Given the description of an element on the screen output the (x, y) to click on. 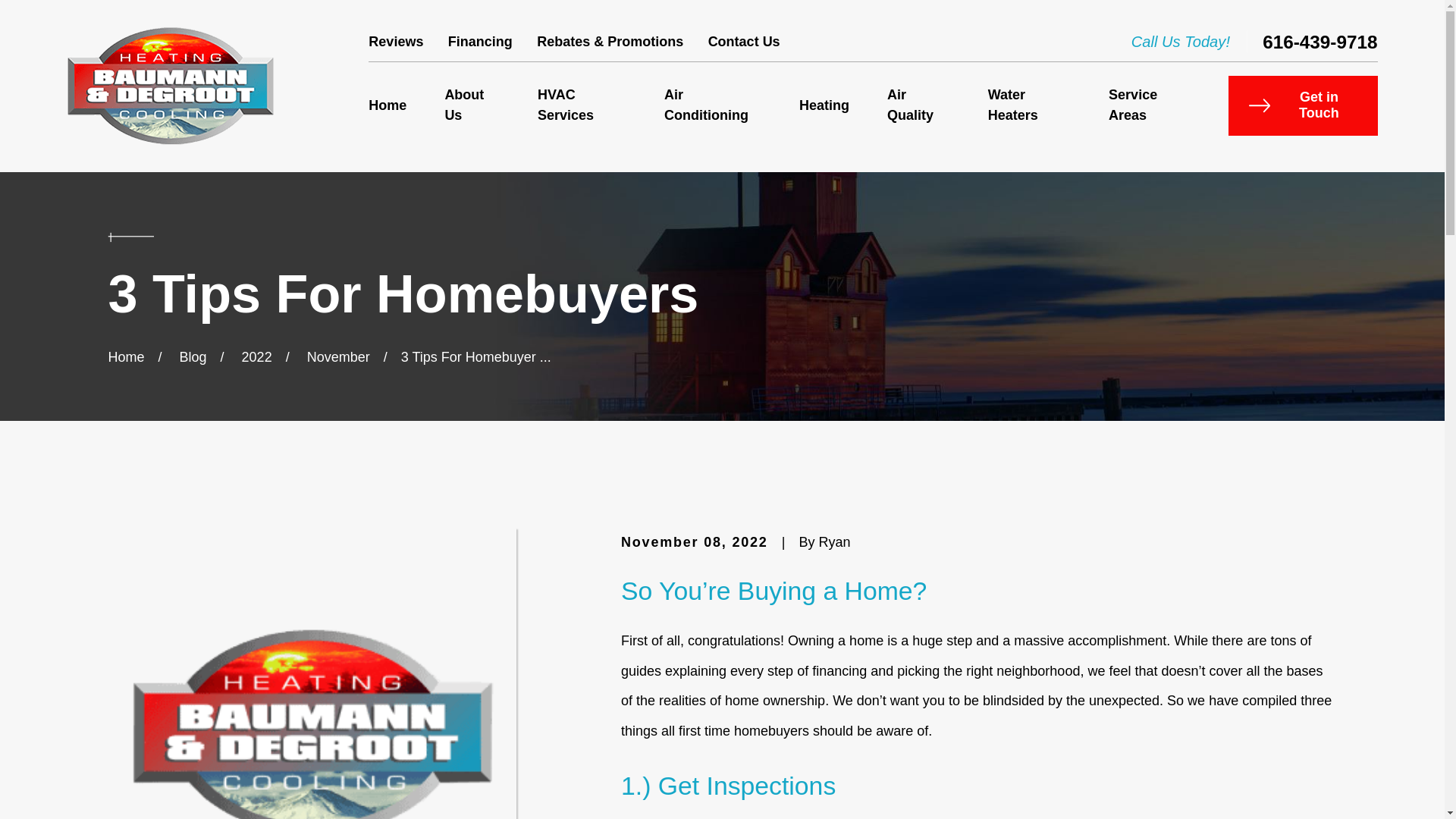
Air Quality (918, 105)
Baumann And Degroot Heating And Cooling (169, 85)
616-439-9718 (1319, 42)
Contact Us (743, 41)
Go Home (125, 356)
Home (169, 85)
Air Conditioning (712, 105)
Water Heaters (1029, 105)
About Us (471, 105)
HVAC Services (581, 105)
Reviews (395, 41)
Financing (480, 41)
